Given the description of an element on the screen output the (x, y) to click on. 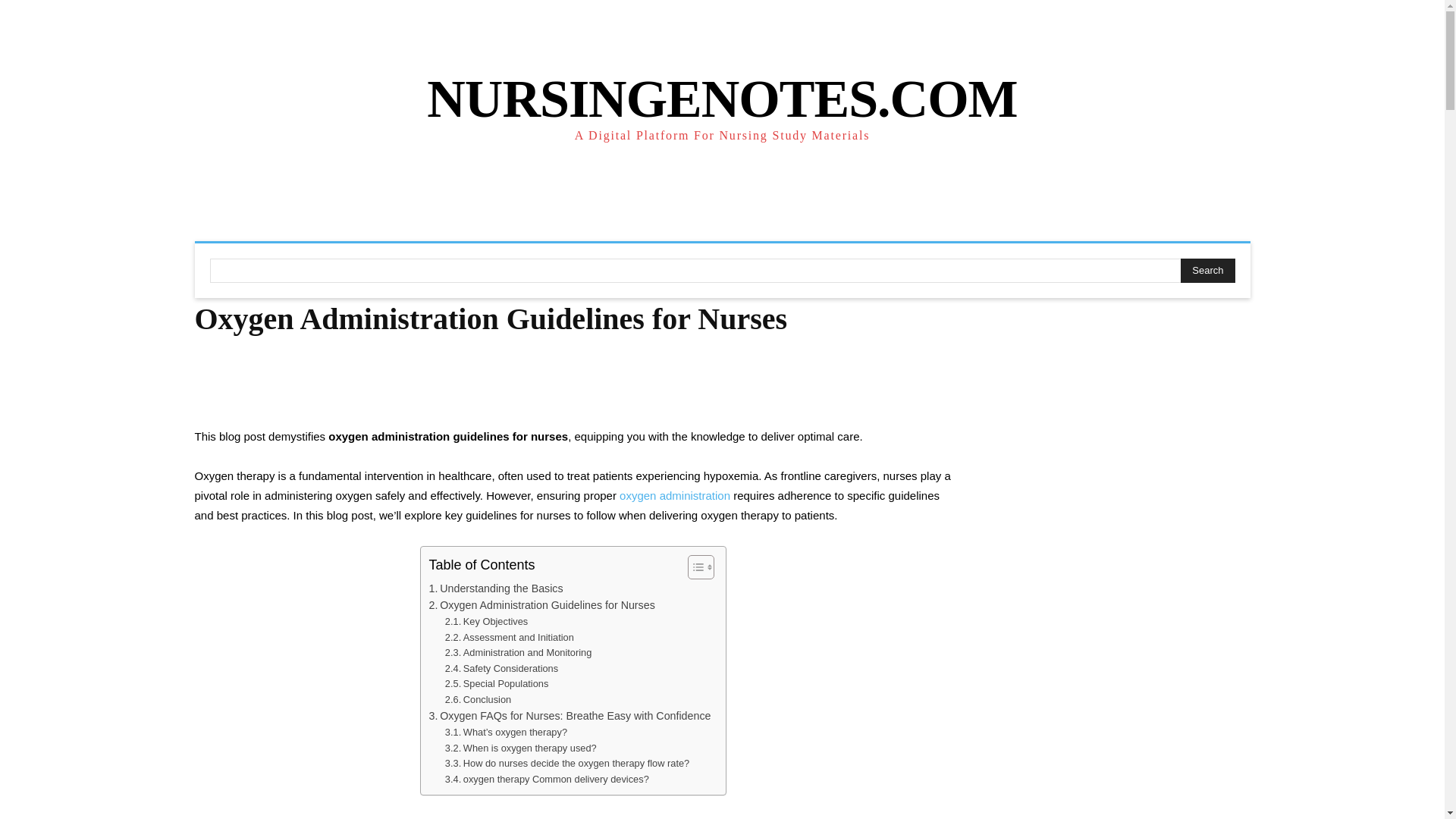
Oxygen Administration Guidelines for Nurses (540, 605)
Administration and Monitoring (518, 652)
Search (1207, 270)
Safety Considerations (501, 668)
Assessment and Initiation (509, 637)
Search (1207, 270)
Understanding the Basics (495, 588)
Special Populations (496, 684)
Key Objectives (486, 621)
oxygen administration (675, 495)
Understanding the Basics (495, 588)
Conclusion (478, 700)
